Given the description of an element on the screen output the (x, y) to click on. 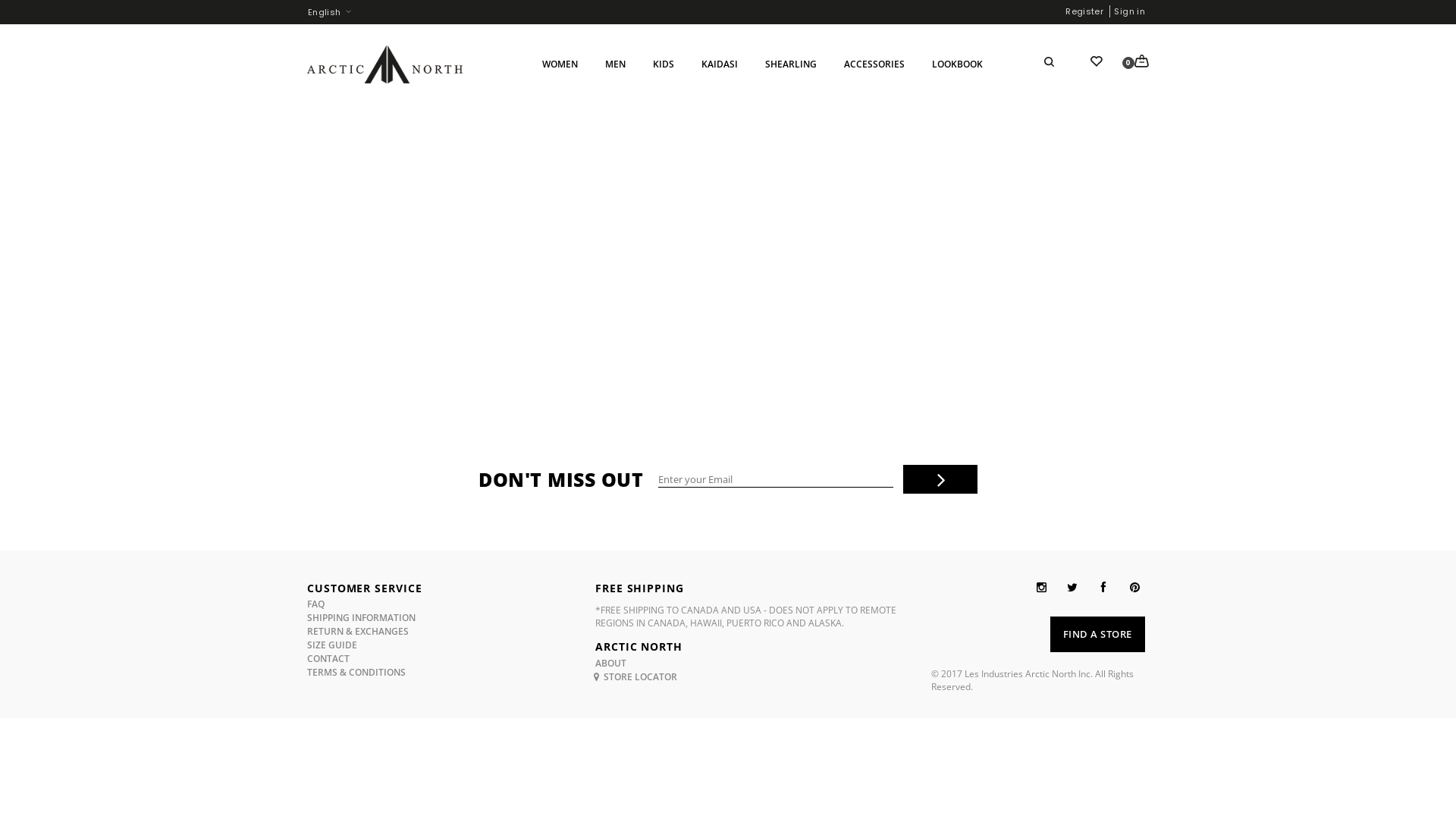
SUBSCRIBE Element type: text (940, 478)
TERMS & CONDITIONS Element type: text (356, 671)
Register Element type: text (1084, 11)
KAIDASI Element type: text (719, 64)
RETURN & EXCHANGES Element type: text (357, 630)
Instagram Element type: hover (1041, 587)
Follow Chestnut on Twitter Element type: hover (1072, 587)
Pinterest Element type: hover (1134, 587)
LOOKBOOK Element type: text (957, 64)
SHEARLING Element type: text (790, 64)
MEN Element type: text (615, 64)
SHIPPING INFORMATION Element type: text (361, 617)
SIZE GUIDE Element type: text (332, 644)
  STORE LOCATOR Element type: text (636, 676)
FAQ Element type: text (315, 603)
ABOUT Element type: text (610, 662)
KIDS Element type: text (663, 64)
ACCESSORIES Element type: text (874, 64)
Sign up for our newsletter Element type: hover (775, 478)
Sign in Element type: text (1129, 11)
FIND A STORE Element type: text (1097, 633)
WOMEN Element type: text (559, 64)
Arctic North Element type: hover (384, 64)
Join us on Facebook Element type: hover (1103, 587)
CONTACT Element type: text (328, 658)
0 Element type: text (1141, 59)
